Given the description of an element on the screen output the (x, y) to click on. 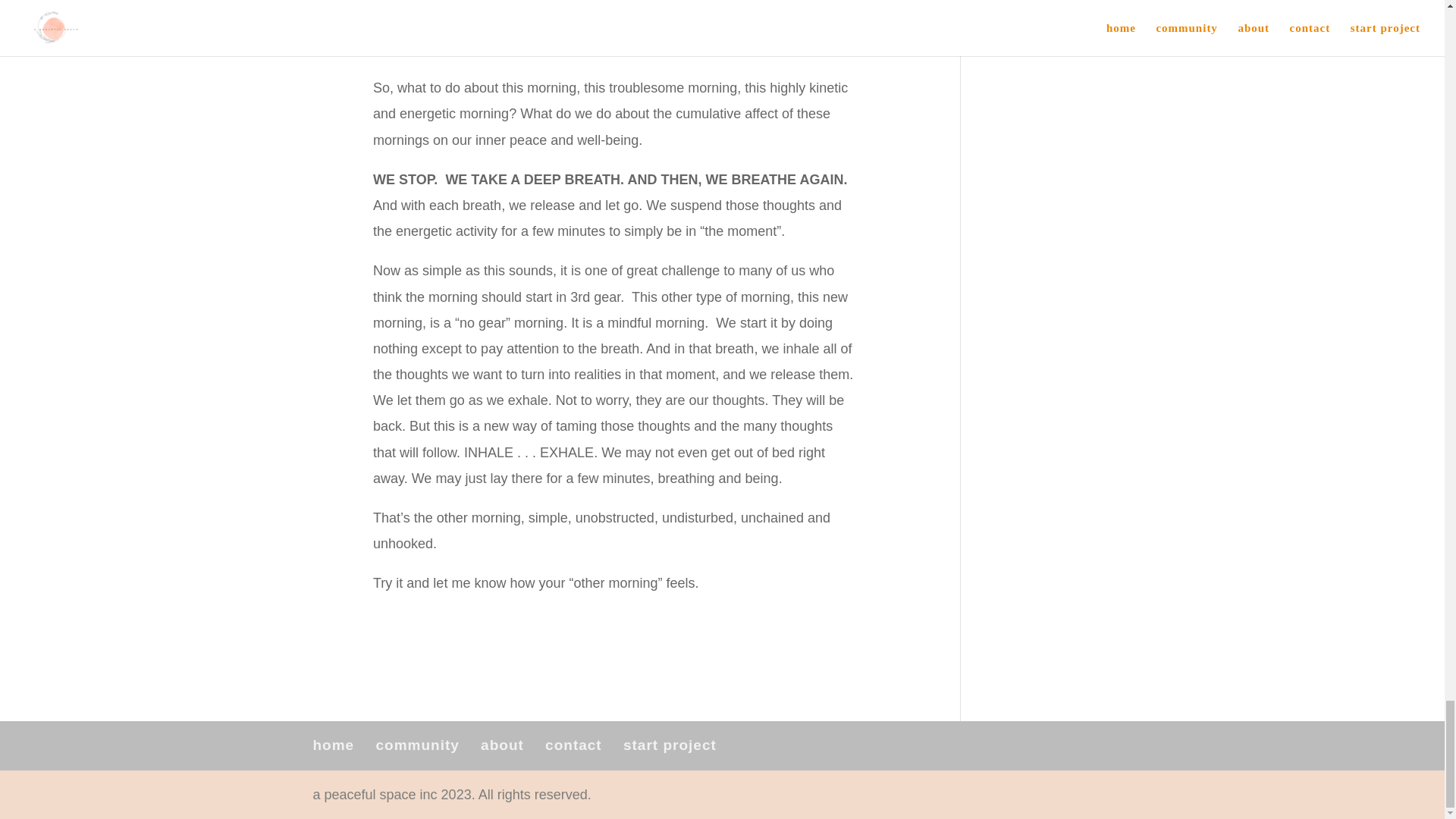
contact (573, 744)
home (333, 744)
community (416, 744)
start project (669, 744)
about (502, 744)
